Given the description of an element on the screen output the (x, y) to click on. 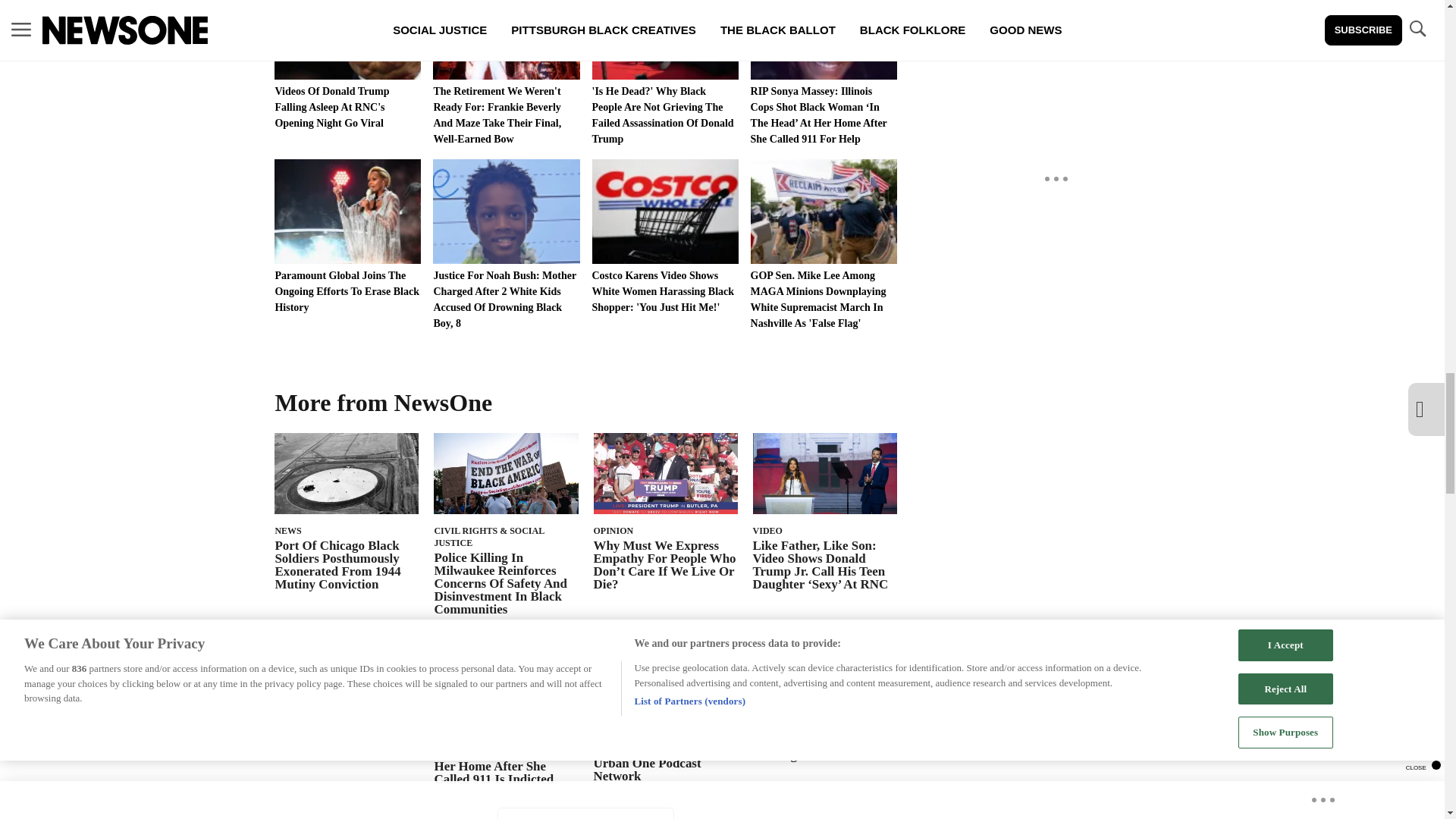
More from NewsOne (391, 402)
NEWS (288, 530)
